Given the description of an element on the screen output the (x, y) to click on. 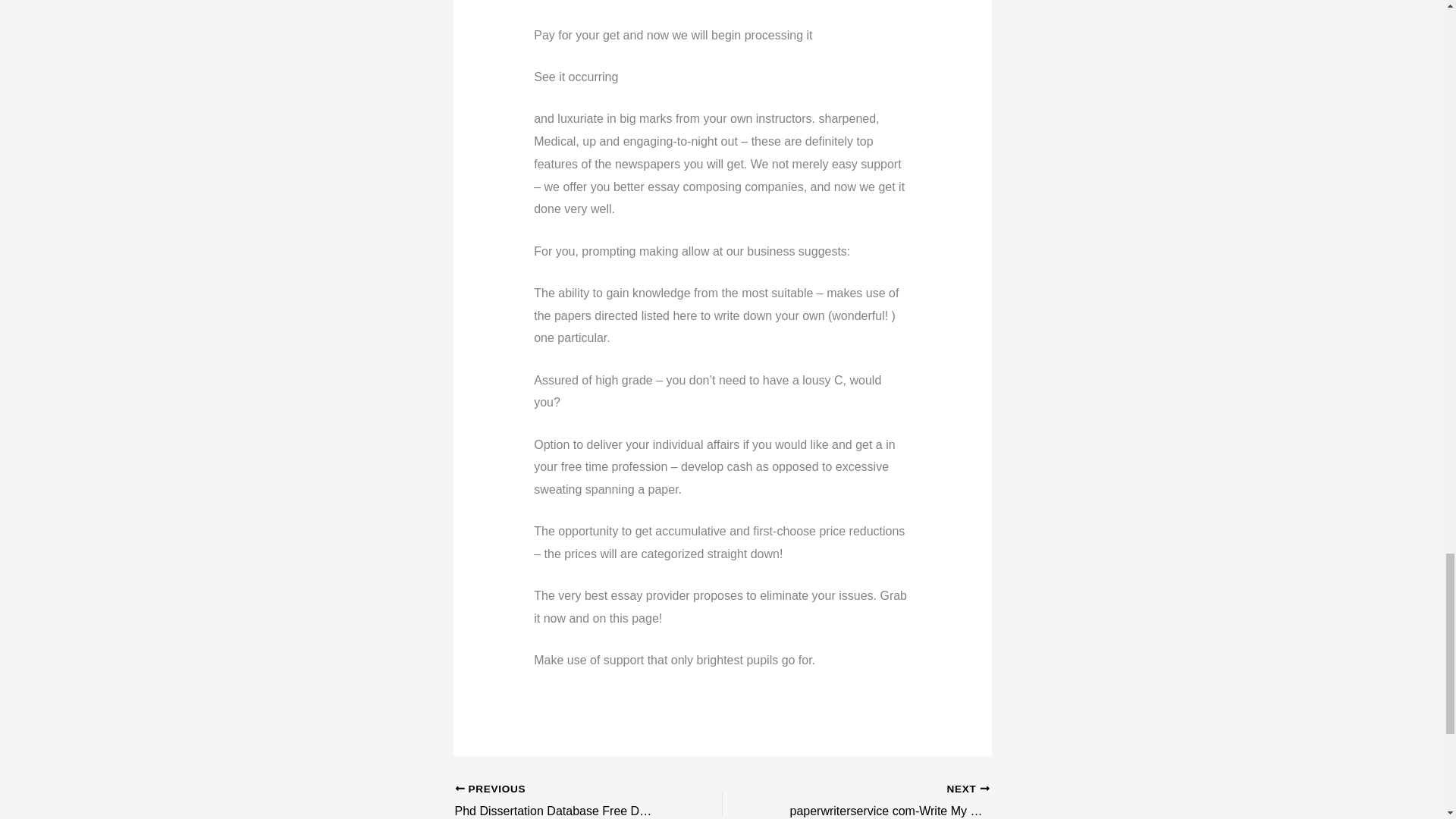
paperwriterservice com-Write My Dissertation Uk at (882, 800)
